Given the description of an element on the screen output the (x, y) to click on. 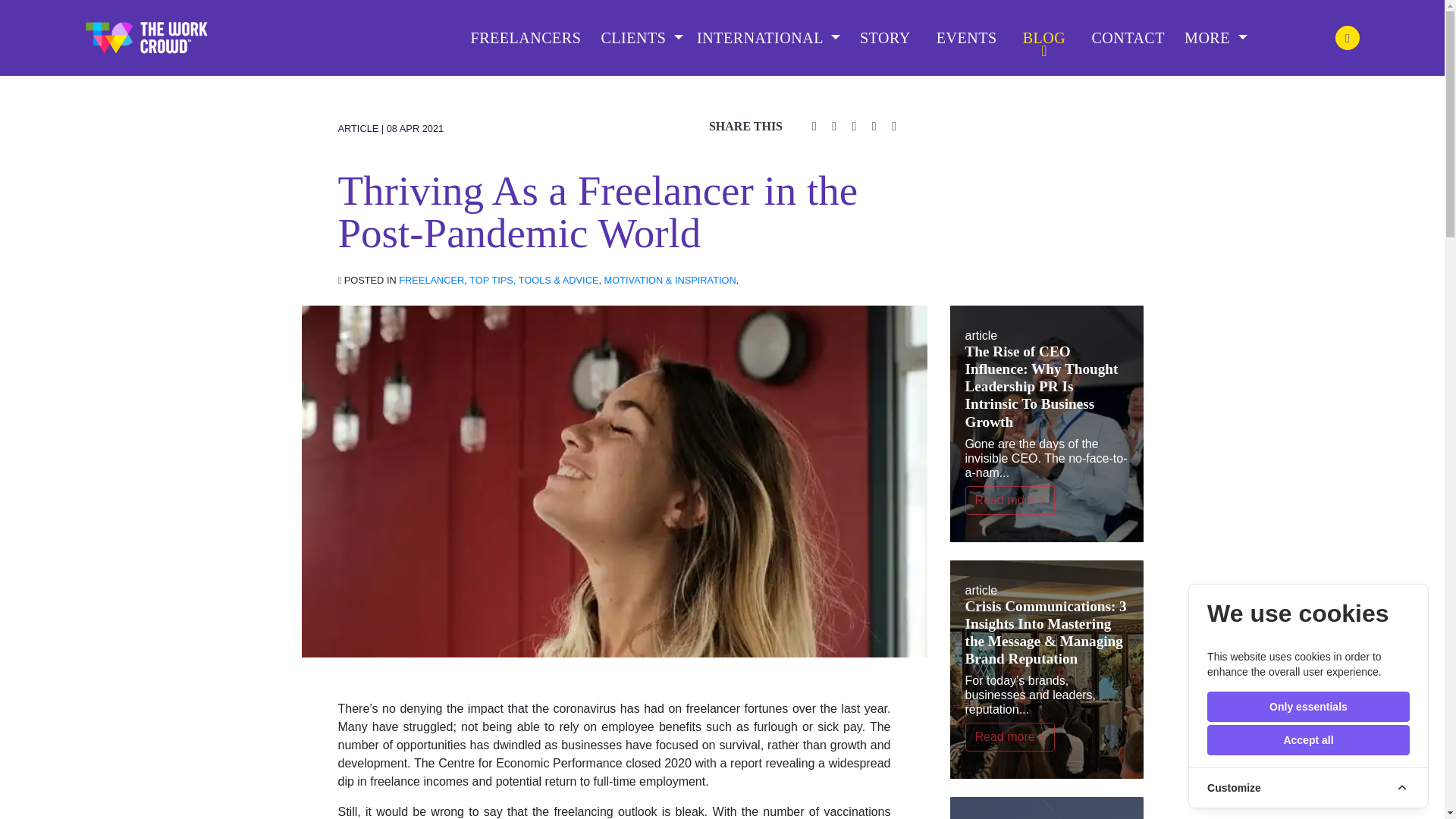
BLOG (1044, 37)
CONTACT (1127, 37)
STORY (885, 37)
MORE (1216, 37)
INTERNATIONAL (768, 37)
CLIENTS (640, 37)
EVENTS (966, 37)
FREELANCERS (525, 37)
